Given the description of an element on the screen output the (x, y) to click on. 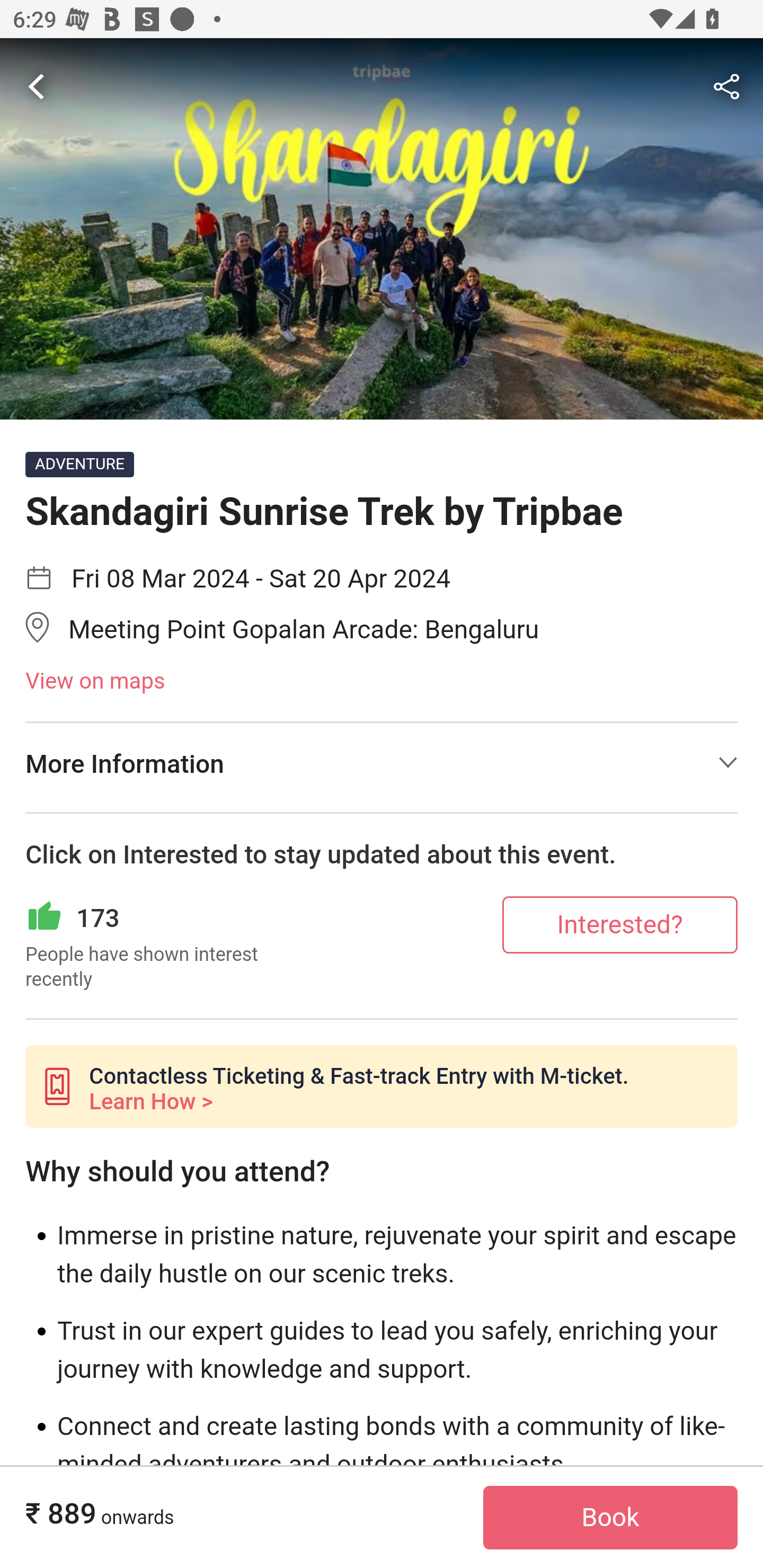
View on maps (381, 681)
More Information (381, 763)
Interested? (619, 924)
Learn How > (150, 1101)
Book (609, 1517)
